Given the description of an element on the screen output the (x, y) to click on. 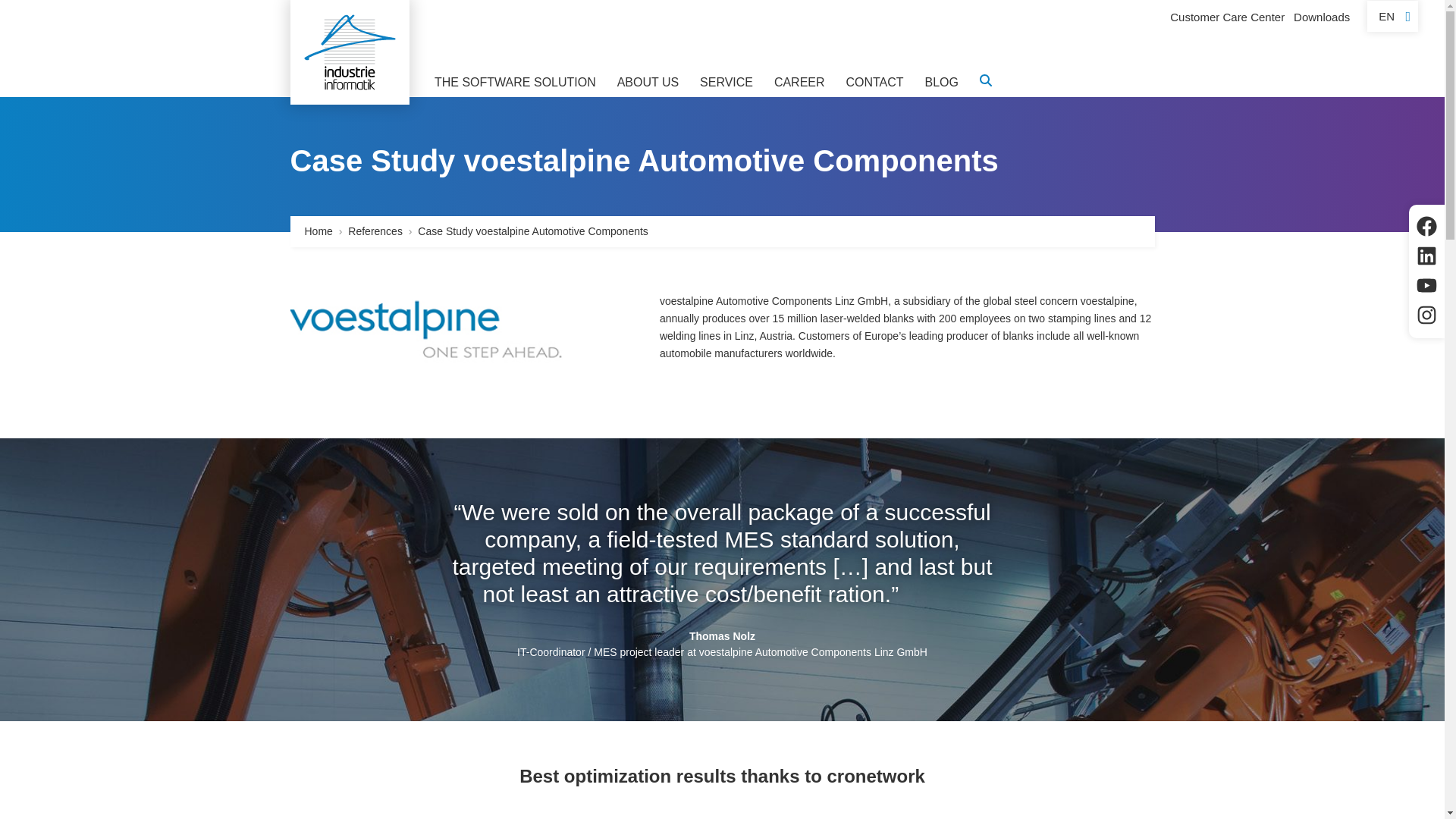
EN (1392, 15)
CONTACT (873, 85)
ABOUT US (648, 85)
CAREER (799, 85)
Industrie Informatik auf LinkedIn besuchen (1426, 256)
Logo   Case Study voestalpine Automotive Components (349, 52)
Downloads (1321, 16)
SERVICE (726, 85)
Industrie Informatik auf Facebook besuchen (1426, 227)
Customer Care Center (1227, 16)
